Given the description of an element on the screen output the (x, y) to click on. 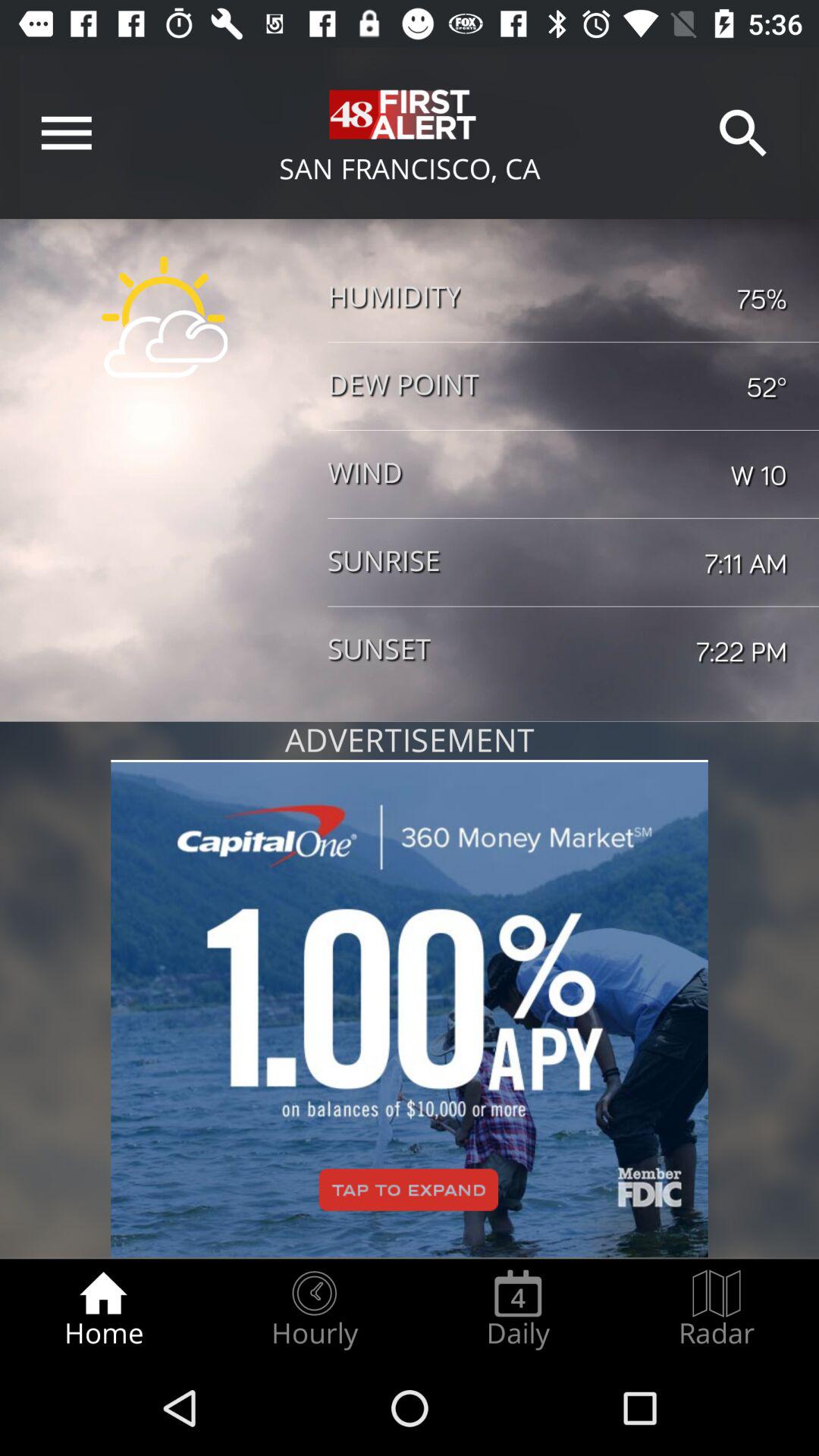
turn on the radio button to the left of the radar (518, 1309)
